Given the description of an element on the screen output the (x, y) to click on. 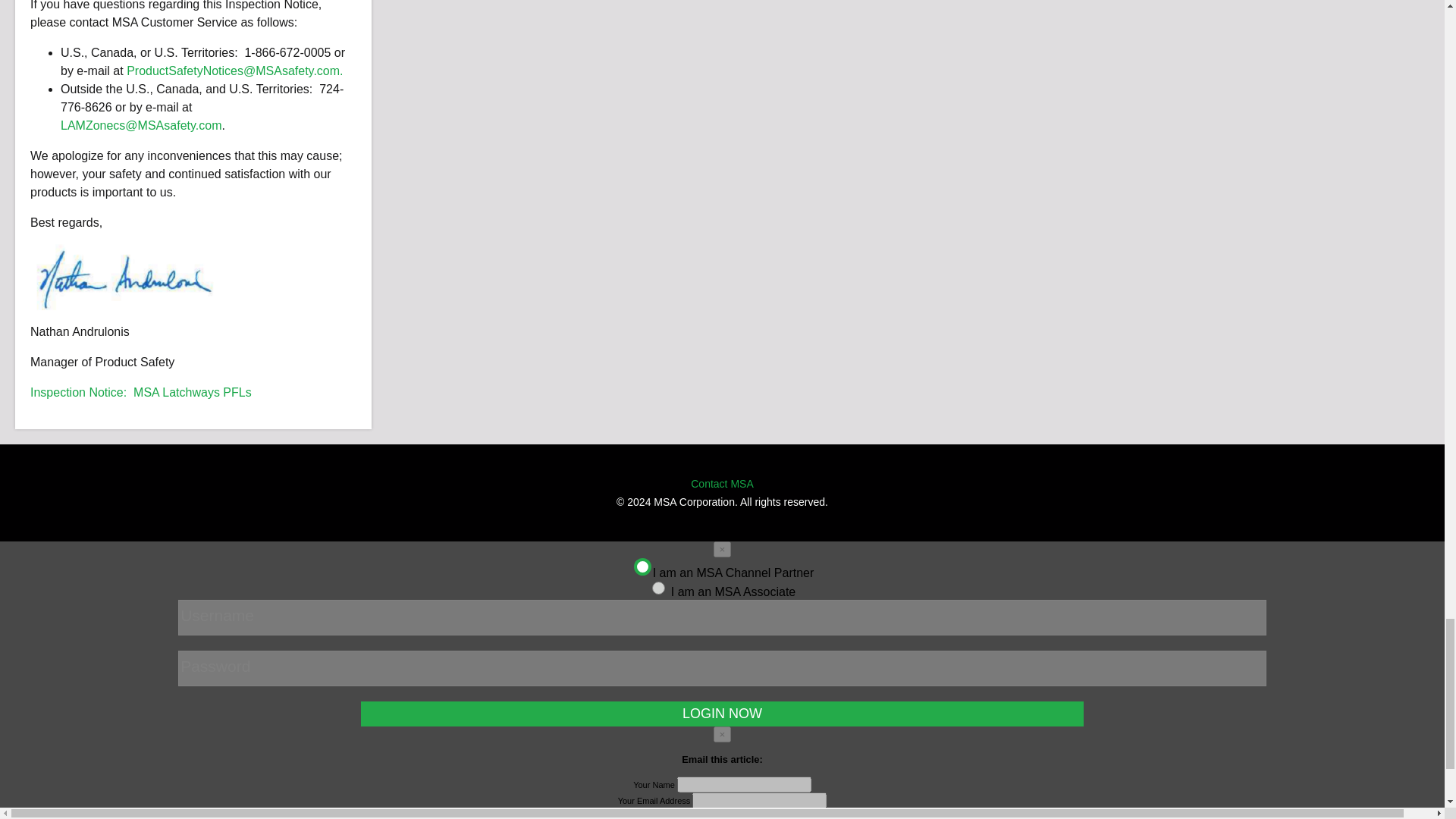
HY (639, 564)
LOGIN NOW (722, 713)
AD (657, 587)
